Given the description of an element on the screen output the (x, y) to click on. 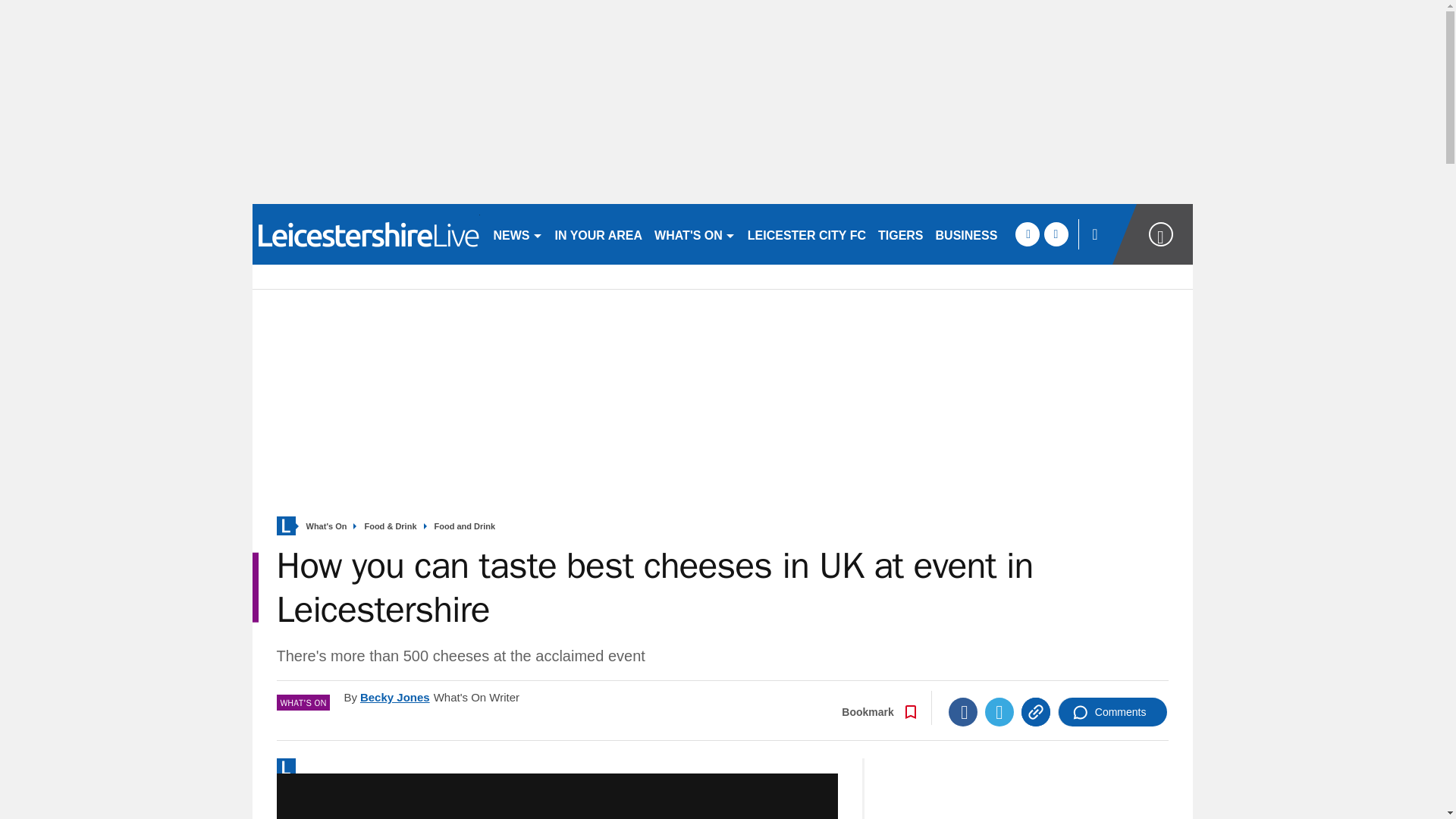
Facebook (962, 711)
facebook (1026, 233)
Twitter (999, 711)
TIGERS (901, 233)
twitter (1055, 233)
LEICESTER CITY FC (806, 233)
WHAT'S ON (694, 233)
leicestermercury (365, 233)
IN YOUR AREA (598, 233)
Comments (1112, 711)
NEWS (517, 233)
BUSINESS (967, 233)
